Given the description of an element on the screen output the (x, y) to click on. 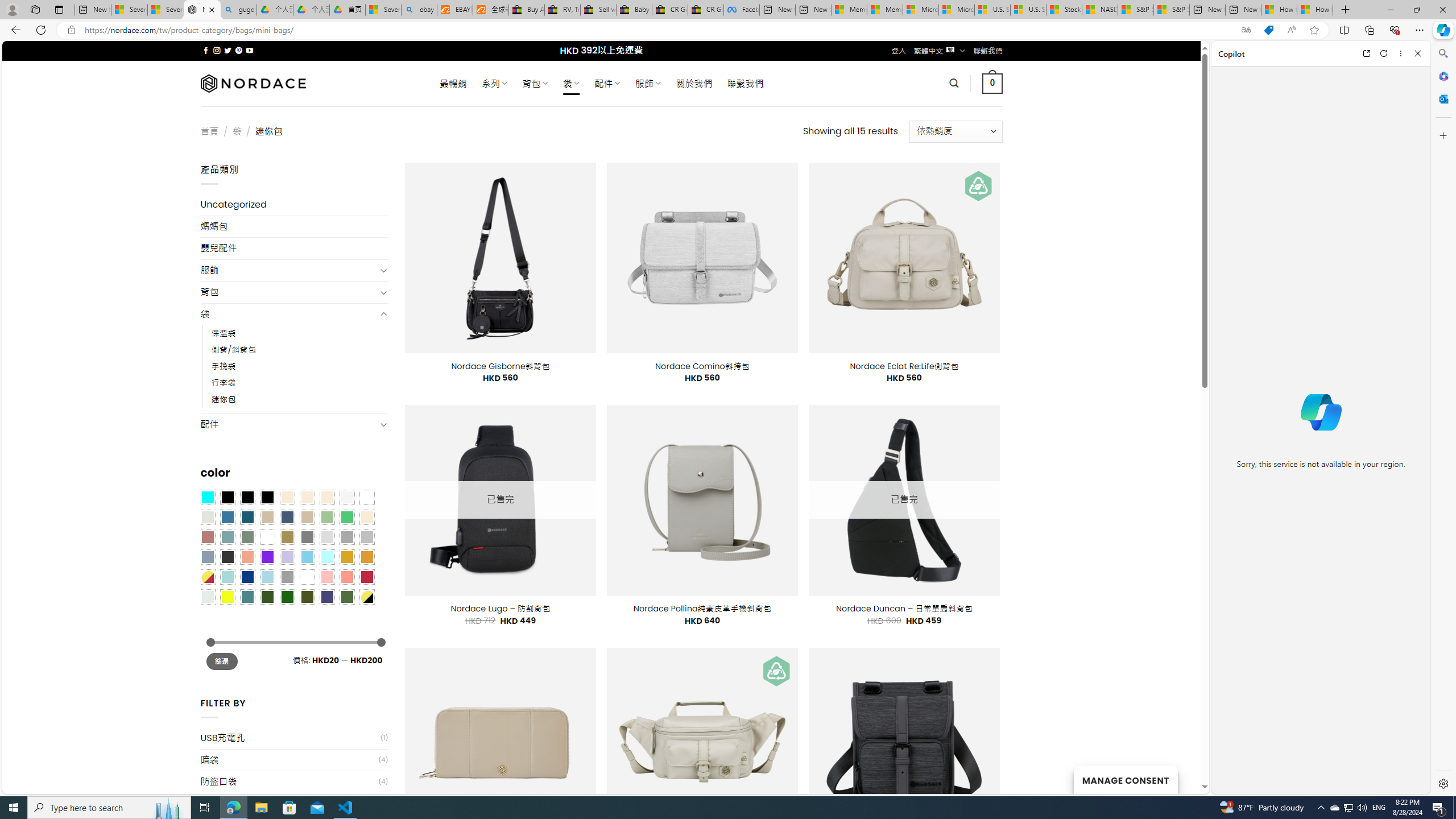
Settings (1442, 783)
New Tab (1346, 9)
Uncategorized (294, 204)
Restore (1416, 9)
